Given the description of an element on the screen output the (x, y) to click on. 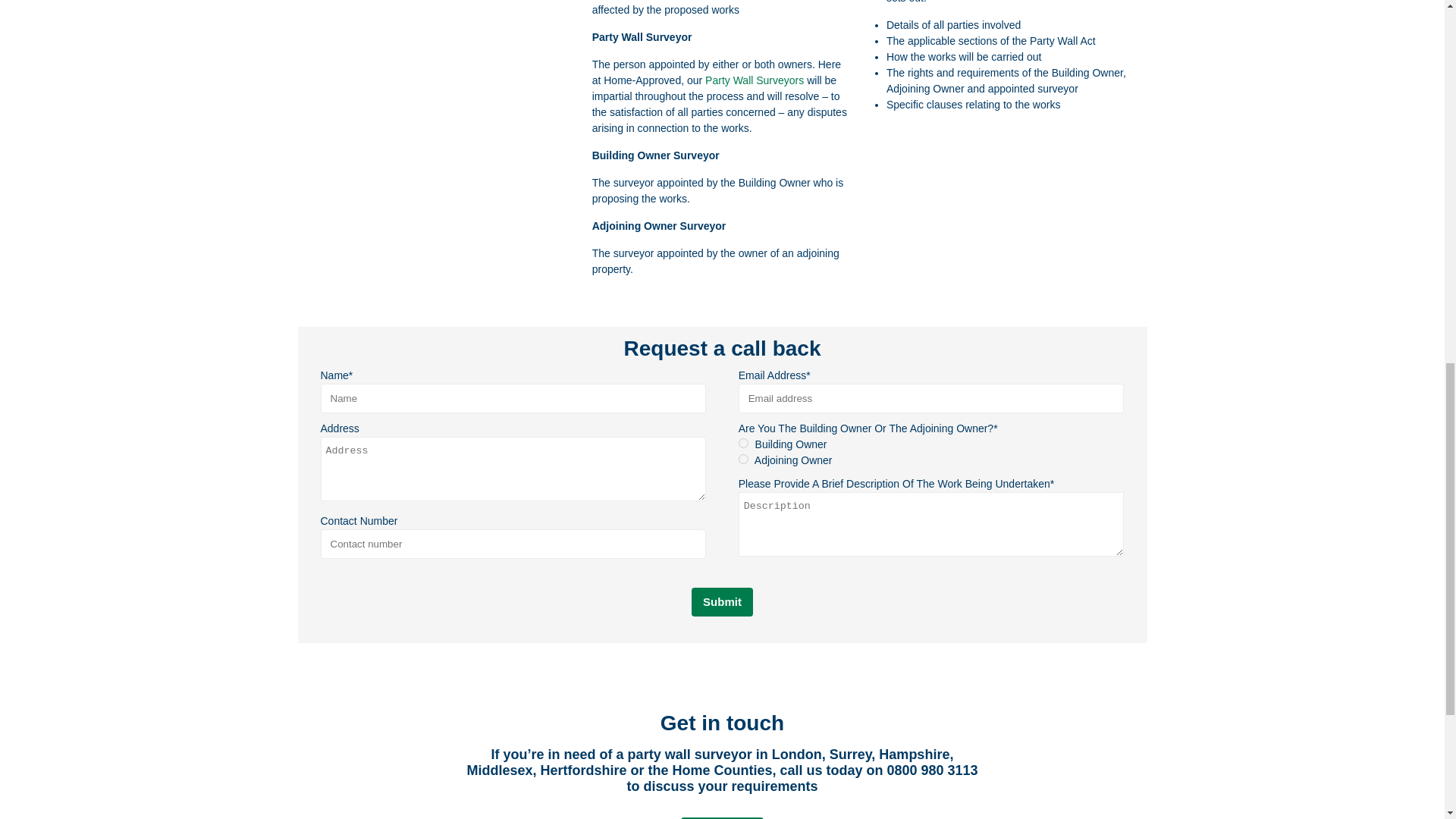
Party Wall Surveyors (753, 80)
Contact Us (721, 818)
Adjoining owner (743, 459)
Building owner (743, 442)
Submit (721, 602)
Submit (721, 602)
